Given the description of an element on the screen output the (x, y) to click on. 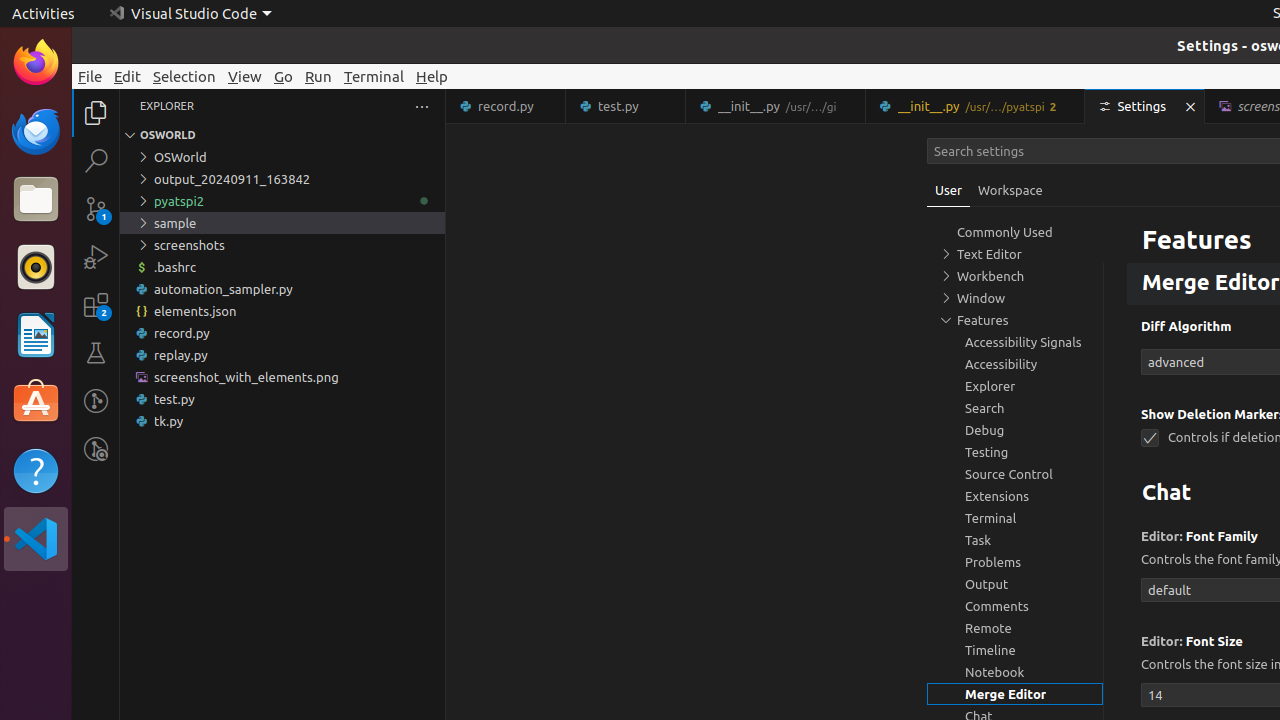
Workspace Element type: check-box (1010, 190)
mergeEditor.showDeletionMarkers Element type: check-box (1150, 438)
tk.py Element type: tree-item (282, 421)
Run and Debug (Ctrl+Shift+D) Element type: page-tab (96, 257)
